Given the description of an element on the screen output the (x, y) to click on. 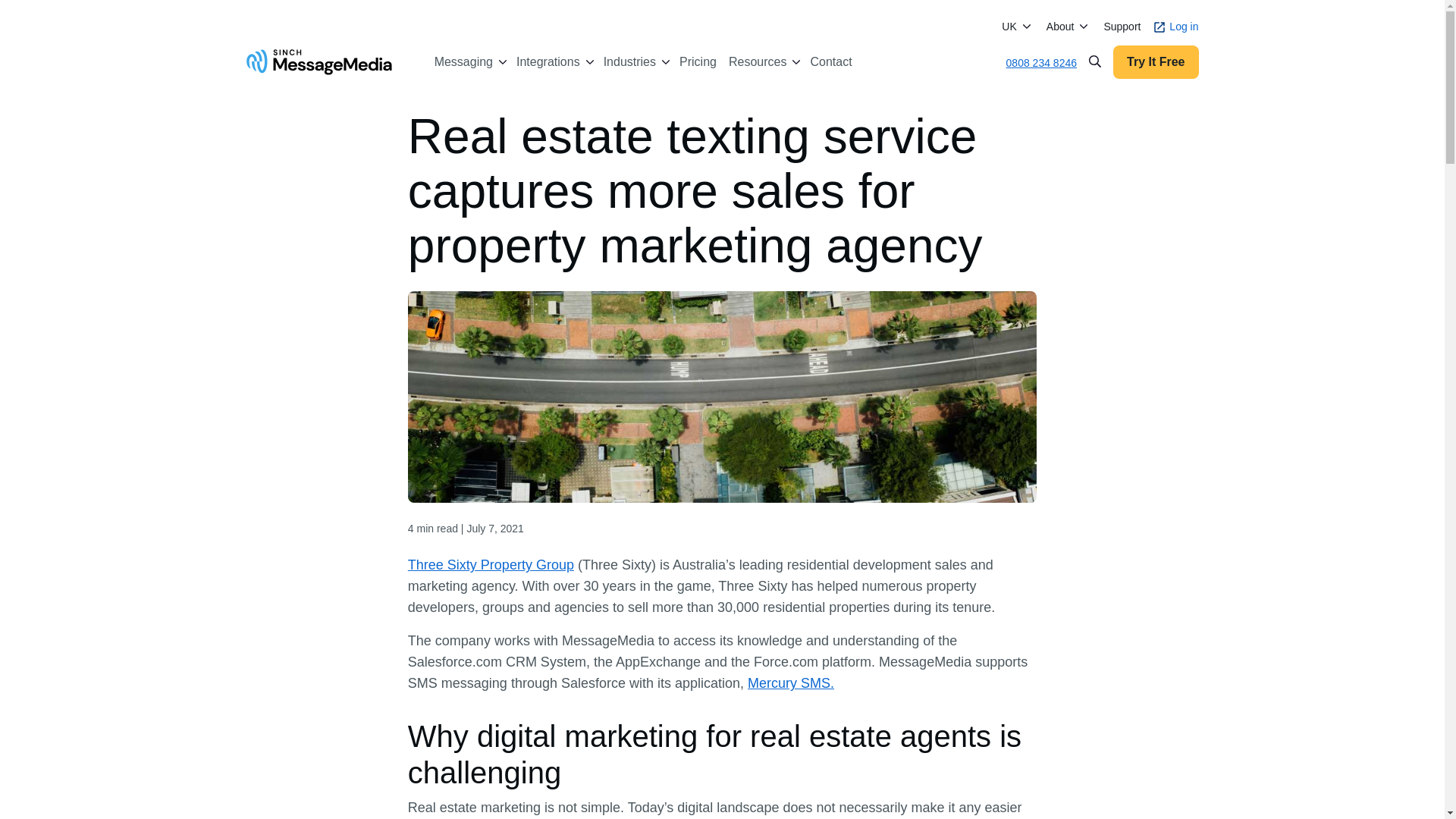
About (1060, 26)
Log in (1175, 26)
Messaging (463, 62)
Integrations (548, 62)
Support (1121, 26)
UK (1008, 26)
